Given the description of an element on the screen output the (x, y) to click on. 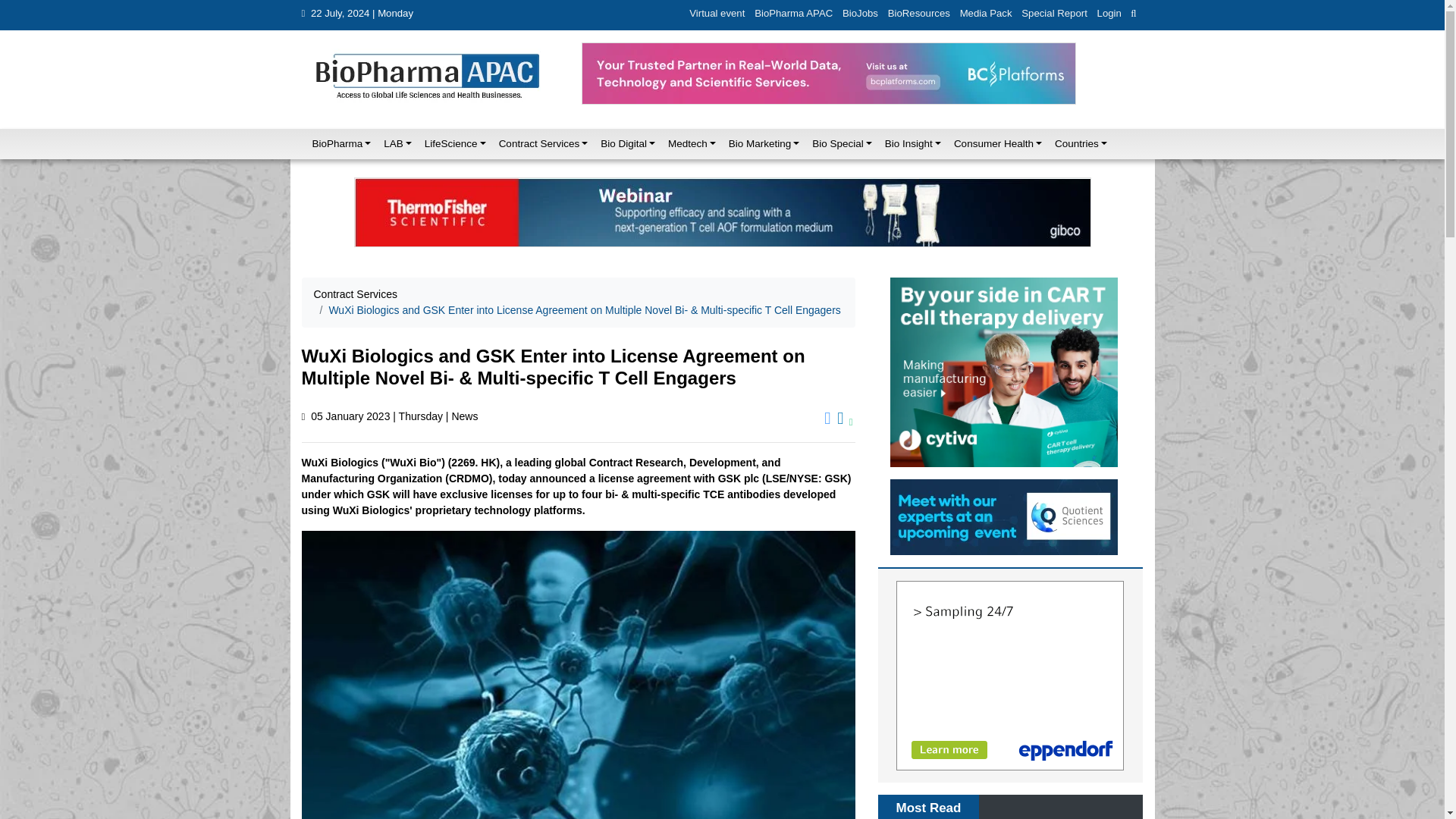
BioPharma APAC (793, 13)
Special Report (1054, 13)
BioJobs (860, 13)
Login (1108, 13)
Media Pack (985, 13)
LifeScience (451, 143)
LAB (393, 143)
BioPharma (337, 143)
BioResources (918, 13)
Contract Services (539, 143)
Virtual event (716, 13)
